Given the description of an element on the screen output the (x, y) to click on. 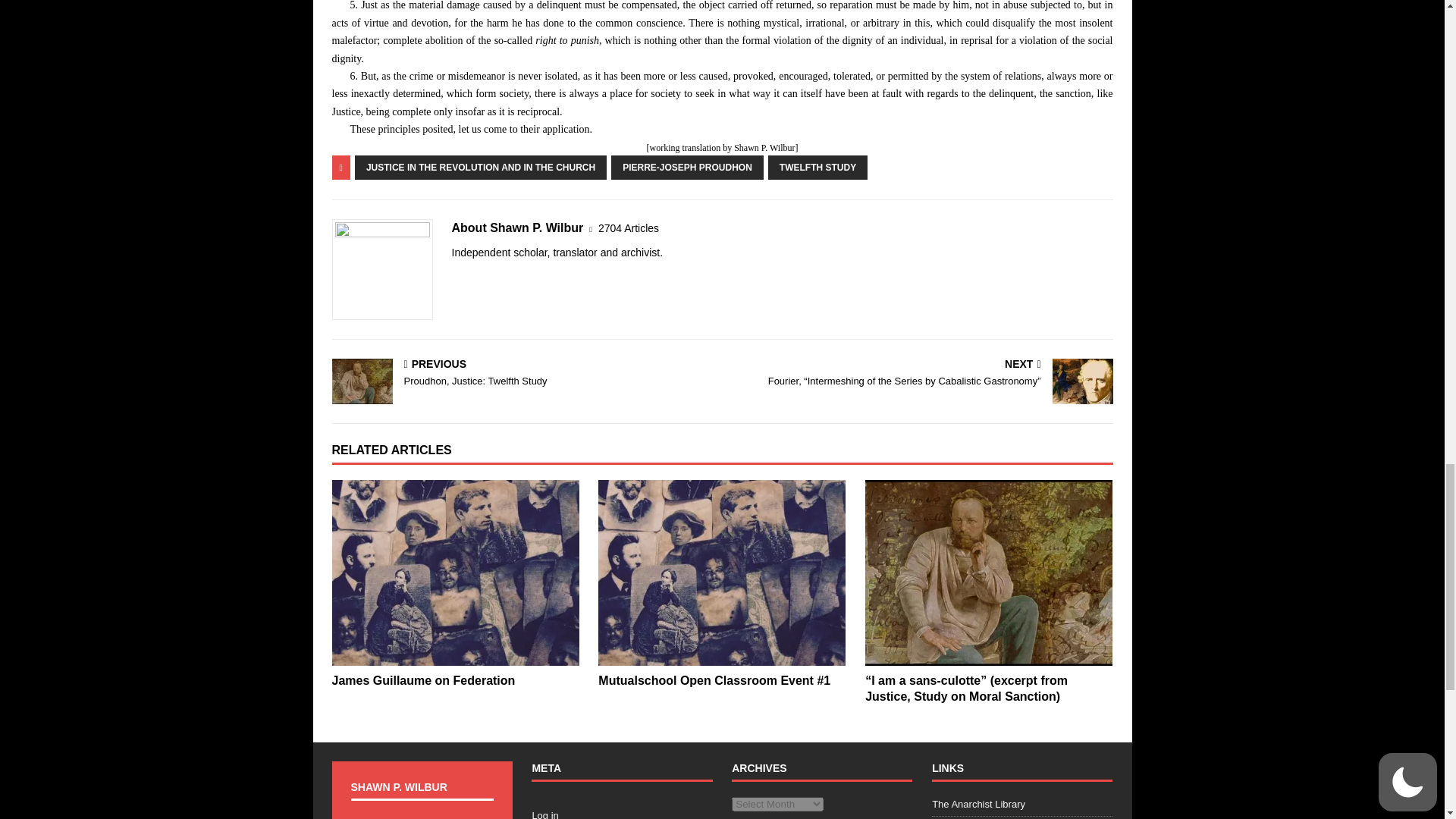
TWELFTH STUDY (817, 167)
More articles written by Shawn P. Wilbur' (628, 227)
JUSTICE IN THE REVOLUTION AND IN THE CHURCH (481, 167)
2704 Articles (628, 227)
PIERRE-JOSEPH PROUDHON (686, 167)
James Guillaume on Federation (455, 572)
James Guillaume on Federation (423, 680)
